Given the description of an element on the screen output the (x, y) to click on. 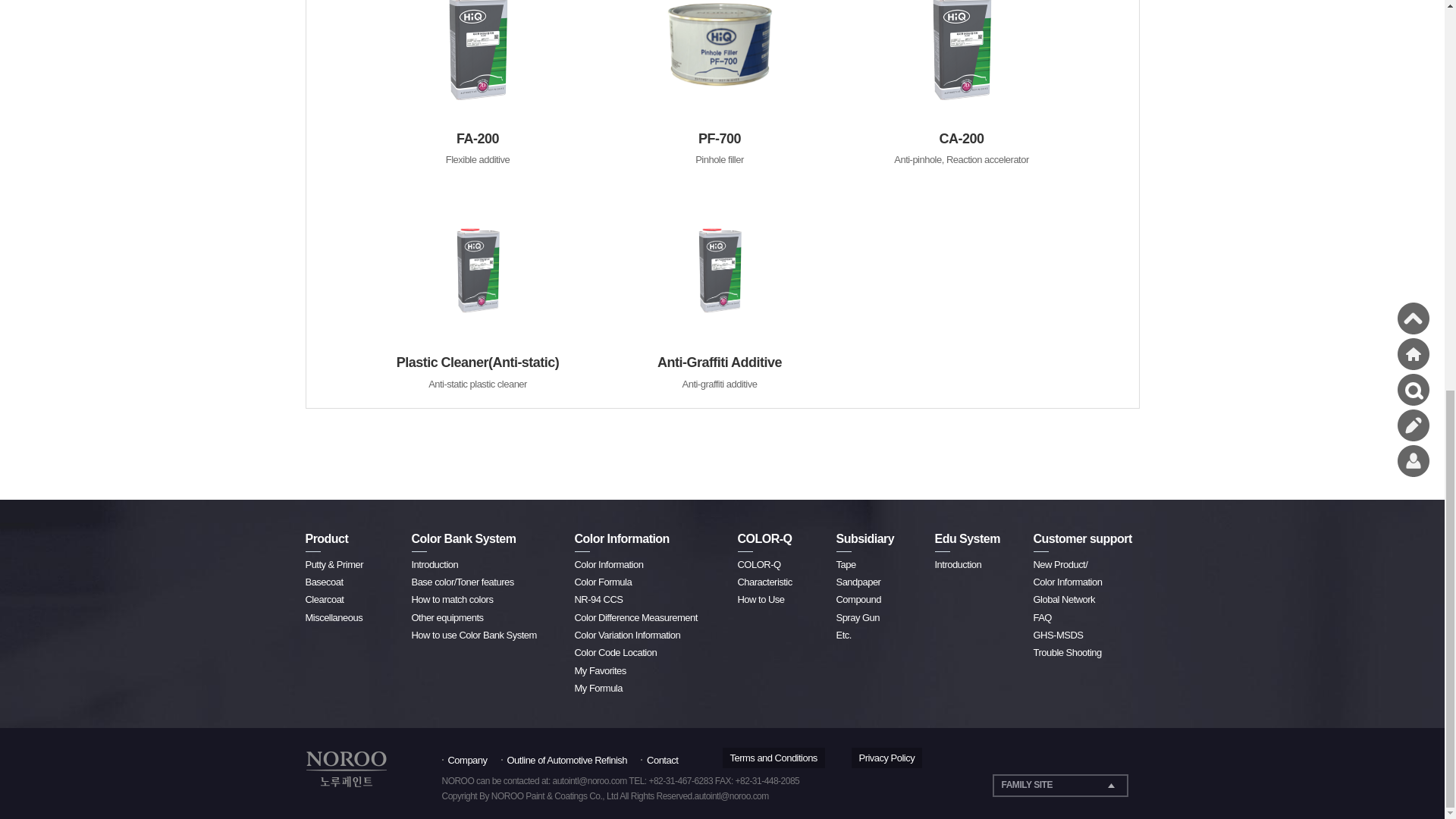
family site open (1058, 784)
